Given the description of an element on the screen output the (x, y) to click on. 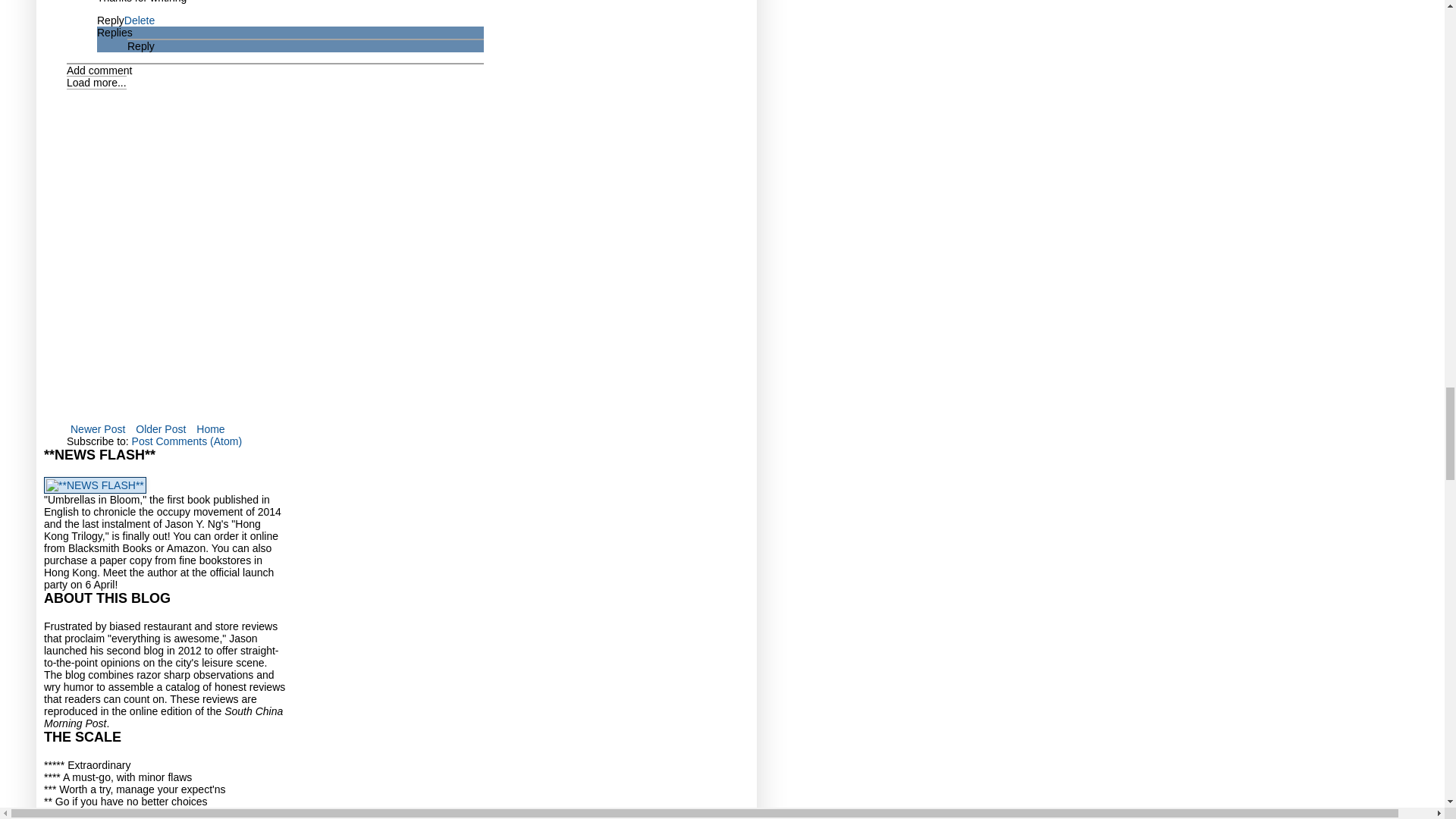
Older Post (160, 428)
Newer Post (97, 428)
